Given the description of an element on the screen output the (x, y) to click on. 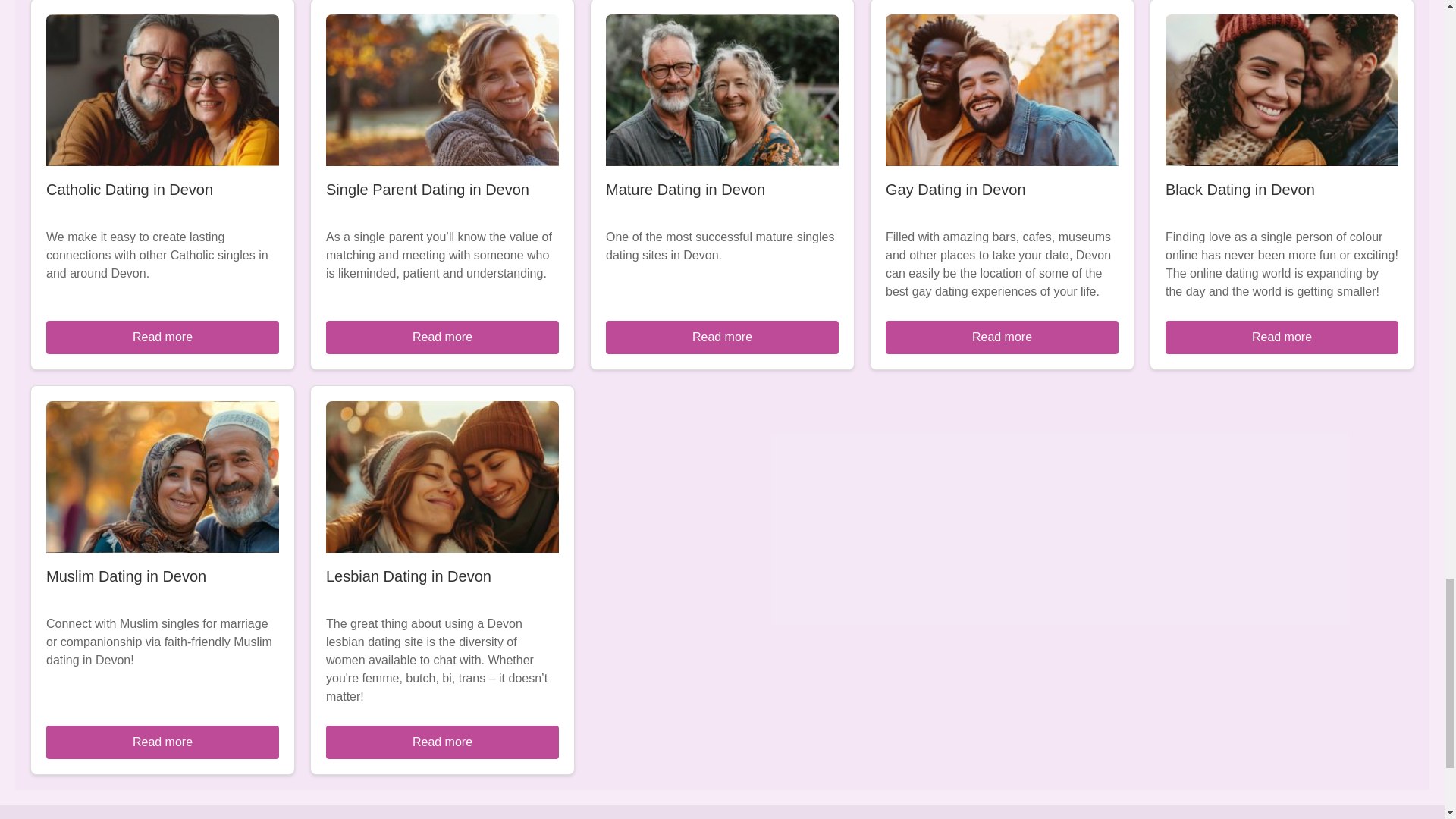
Read more (1281, 337)
Read more (162, 742)
Read more (721, 337)
Read more (1001, 337)
Read more (442, 337)
Read more (442, 742)
Read more (162, 337)
